Given the description of an element on the screen output the (x, y) to click on. 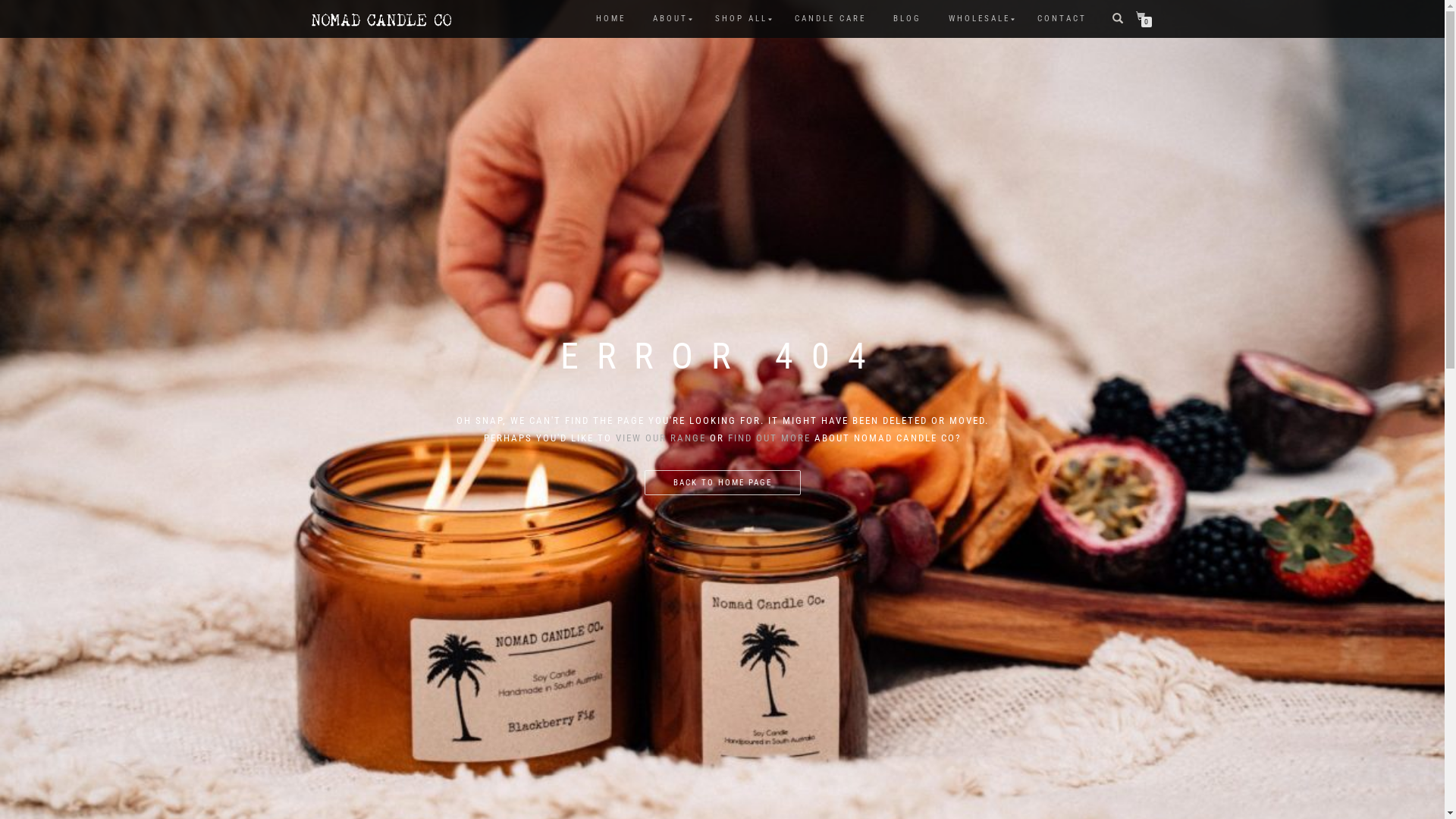
ABOUT Element type: text (670, 18)
BLOG Element type: text (906, 18)
WHOLESALE Element type: text (979, 18)
SHOP ALL Element type: text (740, 18)
CANDLE CARE Element type: text (829, 18)
FIND OUT MORE Element type: text (769, 437)
BACK TO HOME PAGE Element type: text (722, 482)
0 Element type: text (1143, 16)
VIEW OUR RANGE Element type: text (660, 437)
HOME Element type: text (609, 18)
CONTACT Element type: text (1061, 18)
